Given the description of an element on the screen output the (x, y) to click on. 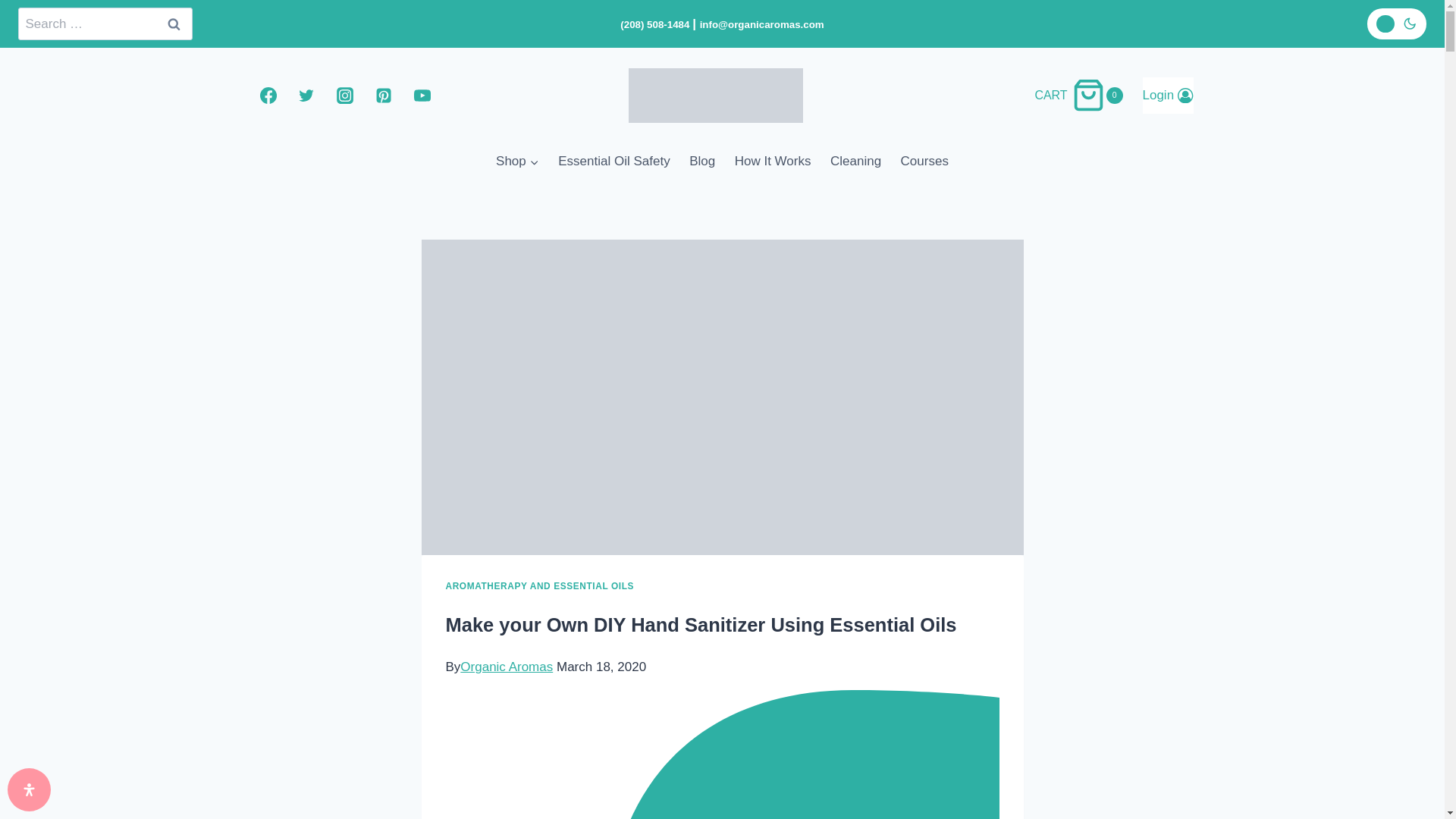
Essential Oil Safety (613, 161)
Search (173, 23)
Search (173, 23)
Courses (924, 161)
Shop (517, 161)
How It Works (1083, 94)
Search (773, 161)
Login (173, 23)
Cleaning (1166, 94)
